Given the description of an element on the screen output the (x, y) to click on. 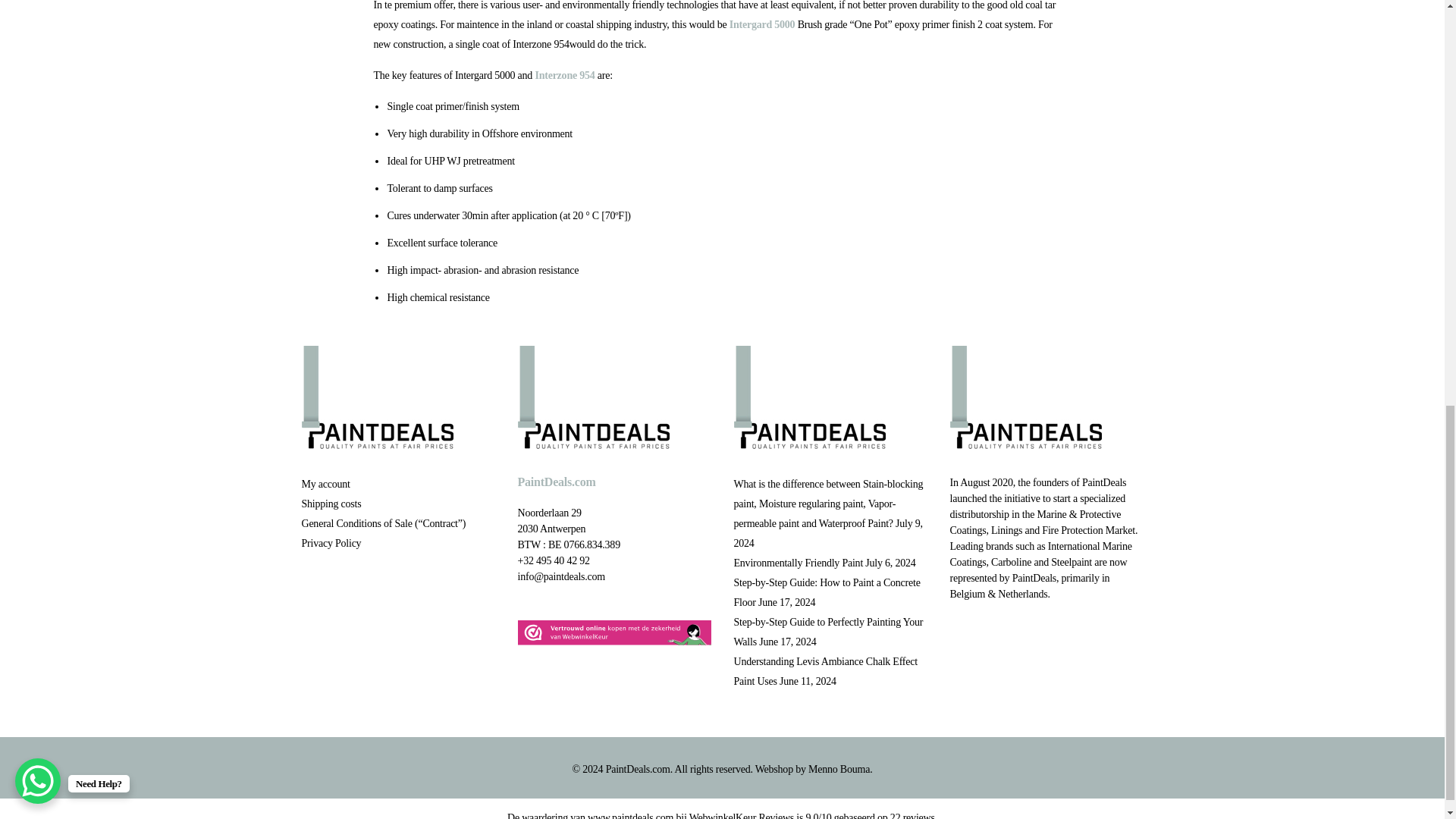
Webwinkel Keurmerk (613, 632)
Webshop developed by Menno Bouma (838, 768)
